Given the description of an element on the screen output the (x, y) to click on. 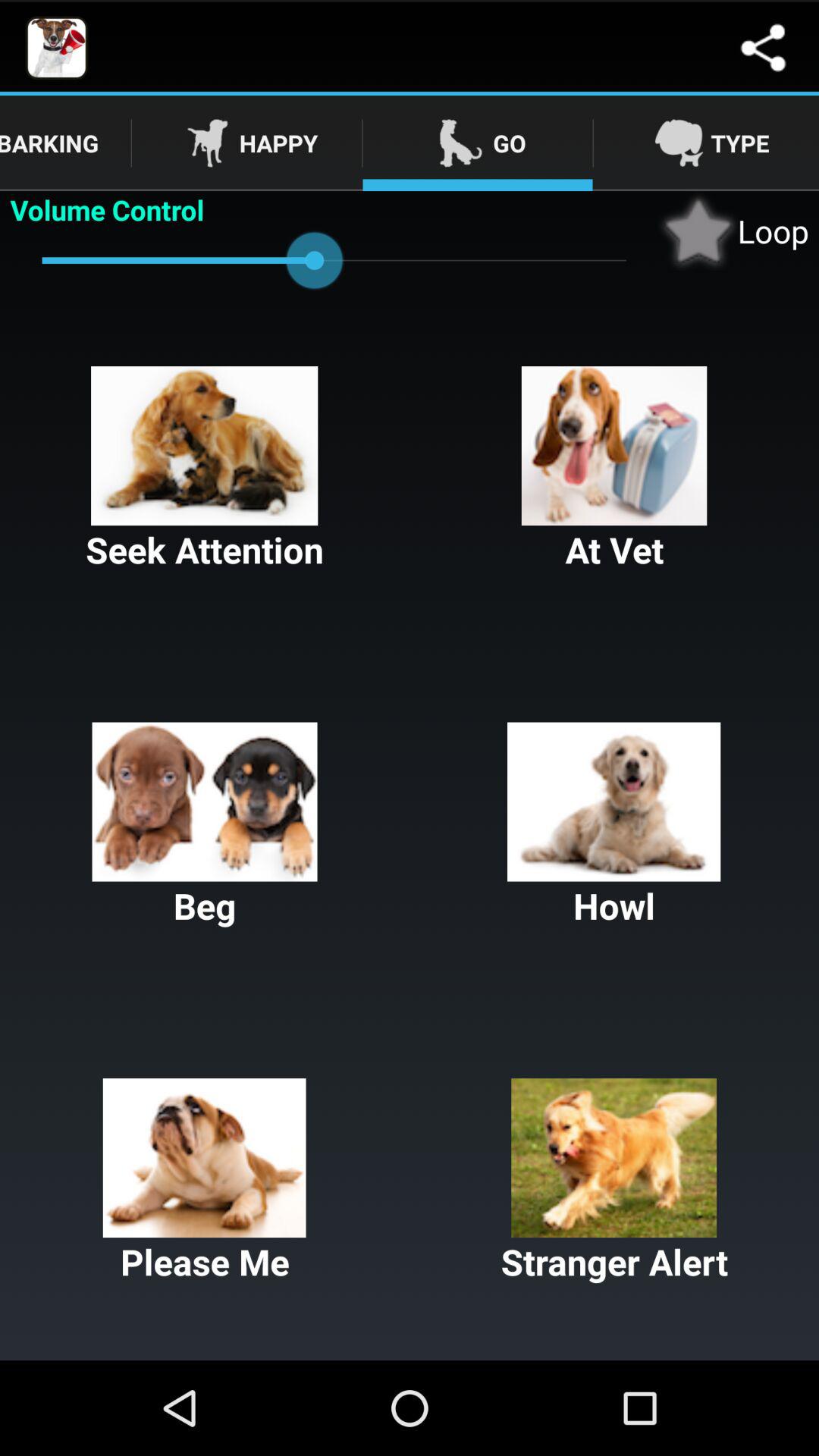
press item above the please me icon (204, 825)
